Given the description of an element on the screen output the (x, y) to click on. 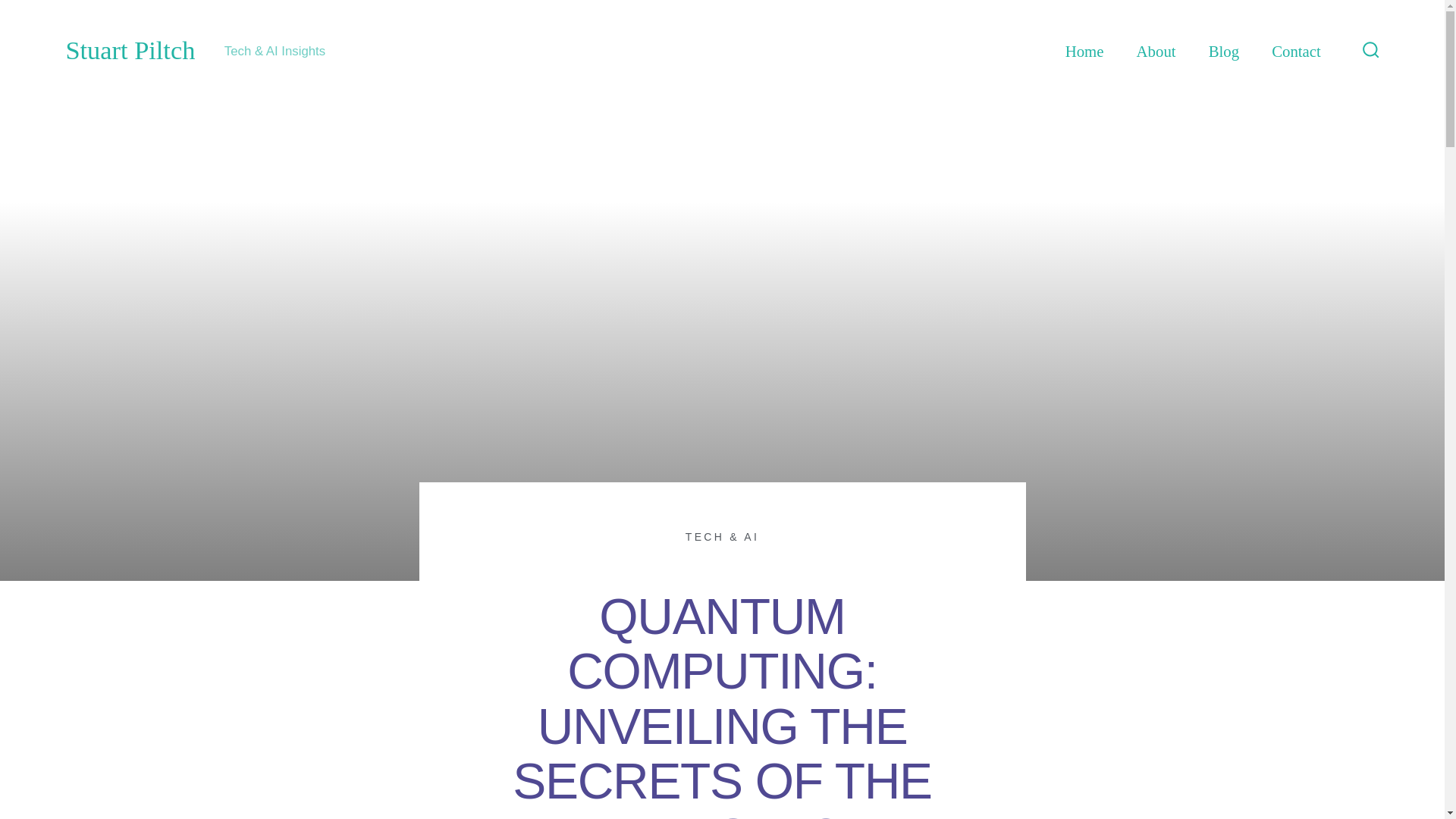
Home (1084, 51)
Stuart Piltch (130, 51)
Blog (1223, 51)
Contact (1295, 51)
About (1156, 51)
